Given the description of an element on the screen output the (x, y) to click on. 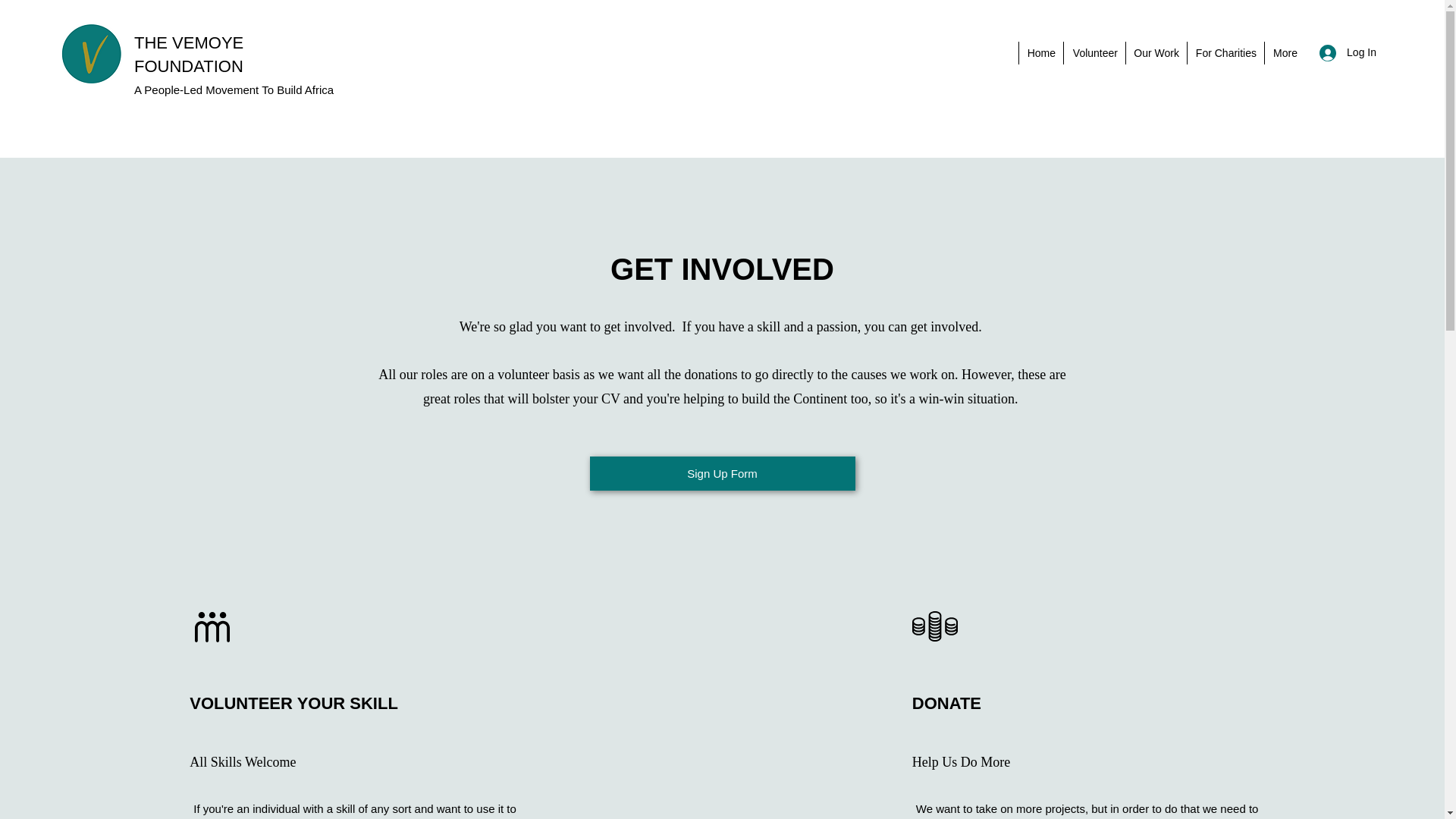
Log In (1347, 52)
Our Work (1155, 52)
THE VEMOYE FOUNDATION (188, 54)
Home (1039, 52)
For Charities (1224, 52)
Volunteer (1093, 52)
Sign Up Form (722, 473)
